Given the description of an element on the screen output the (x, y) to click on. 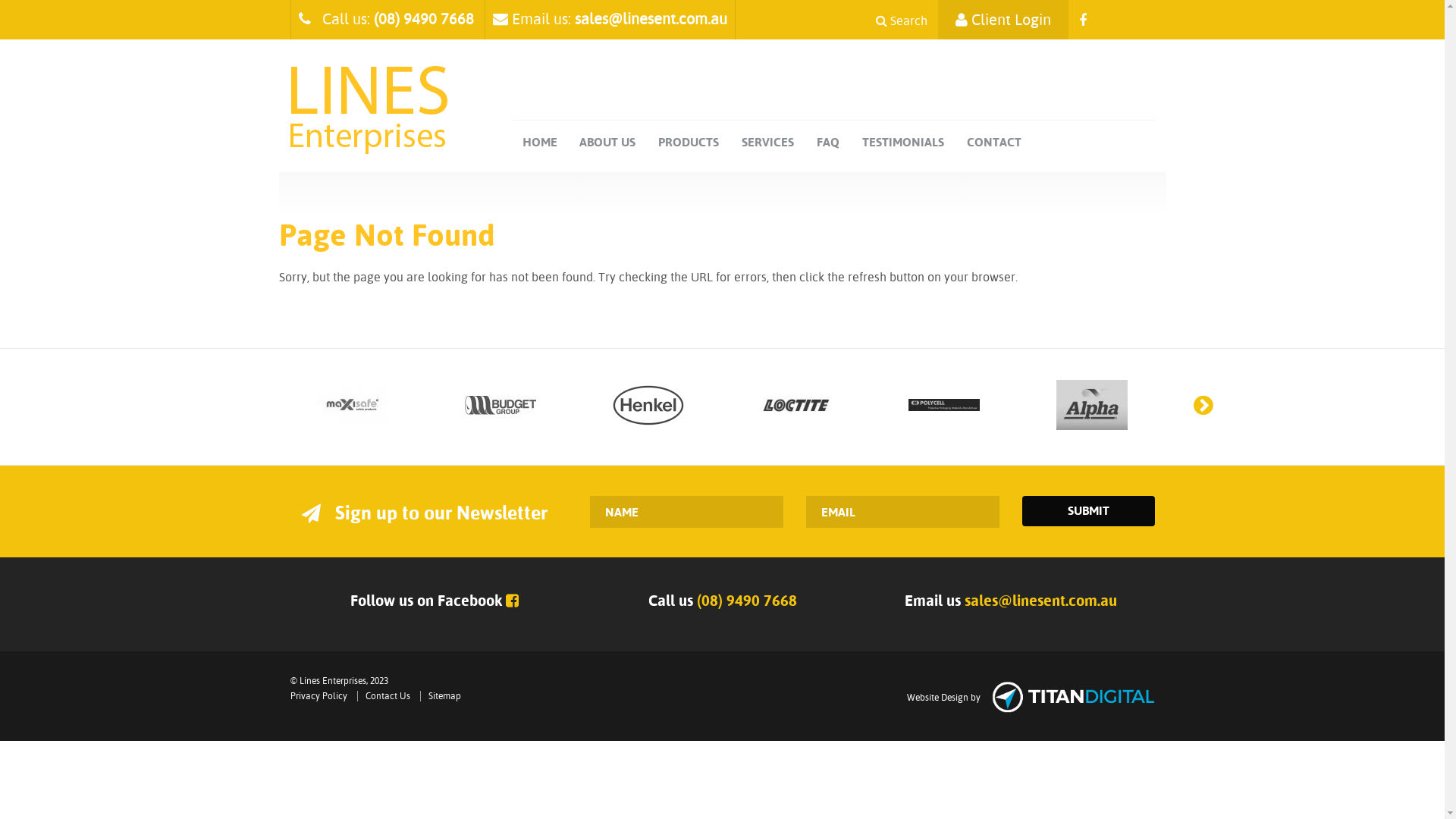
Contact Us Element type: text (387, 695)
ABOUT US Element type: text (606, 141)
SERVICES Element type: text (767, 141)
CONTACT Element type: text (993, 141)
Titan Digital Element type: hover (1072, 695)
HOME Element type: text (539, 141)
Client Login Element type: text (1003, 19)
Follow us on Facebook Element type: text (434, 600)
Sitemap Element type: text (443, 695)
Email us: sales@linesent.com.au Element type: text (609, 18)
Privacy Policy Element type: text (317, 695)
sales@linesent.com.au Element type: text (1040, 600)
TESTIMONIALS Element type: text (902, 141)
FAQ Element type: text (827, 141)
logo Element type: hover (367, 109)
(08) 9490 7668 Element type: text (746, 600)
Call us: (08) 9490 7668 Element type: text (385, 18)
Submit Element type: text (1088, 510)
PRODUCTS Element type: text (688, 141)
